Given the description of an element on the screen output the (x, y) to click on. 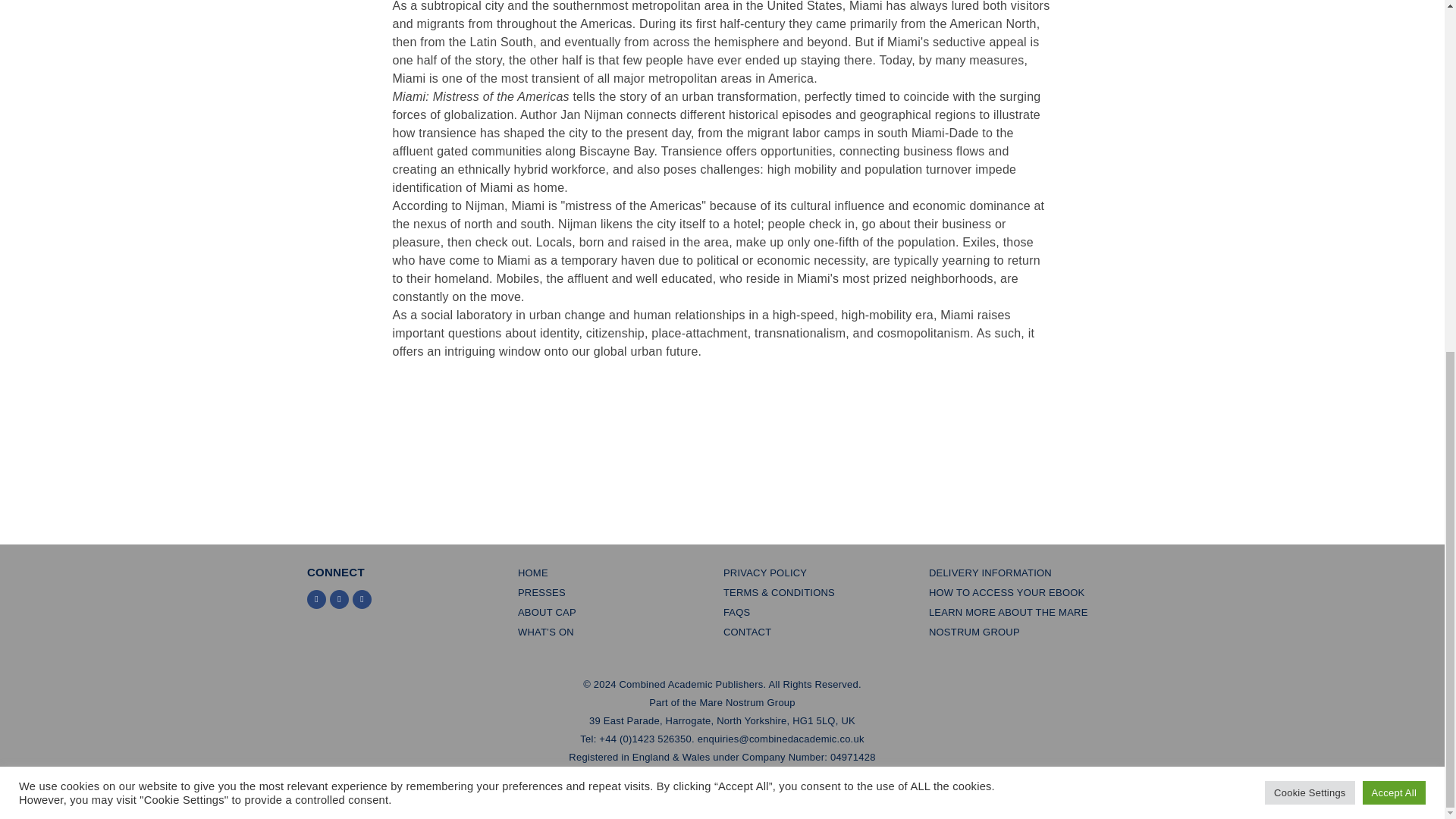
Follow us on Instagram (361, 599)
Follow us on Facebook (339, 599)
